Given the description of an element on the screen output the (x, y) to click on. 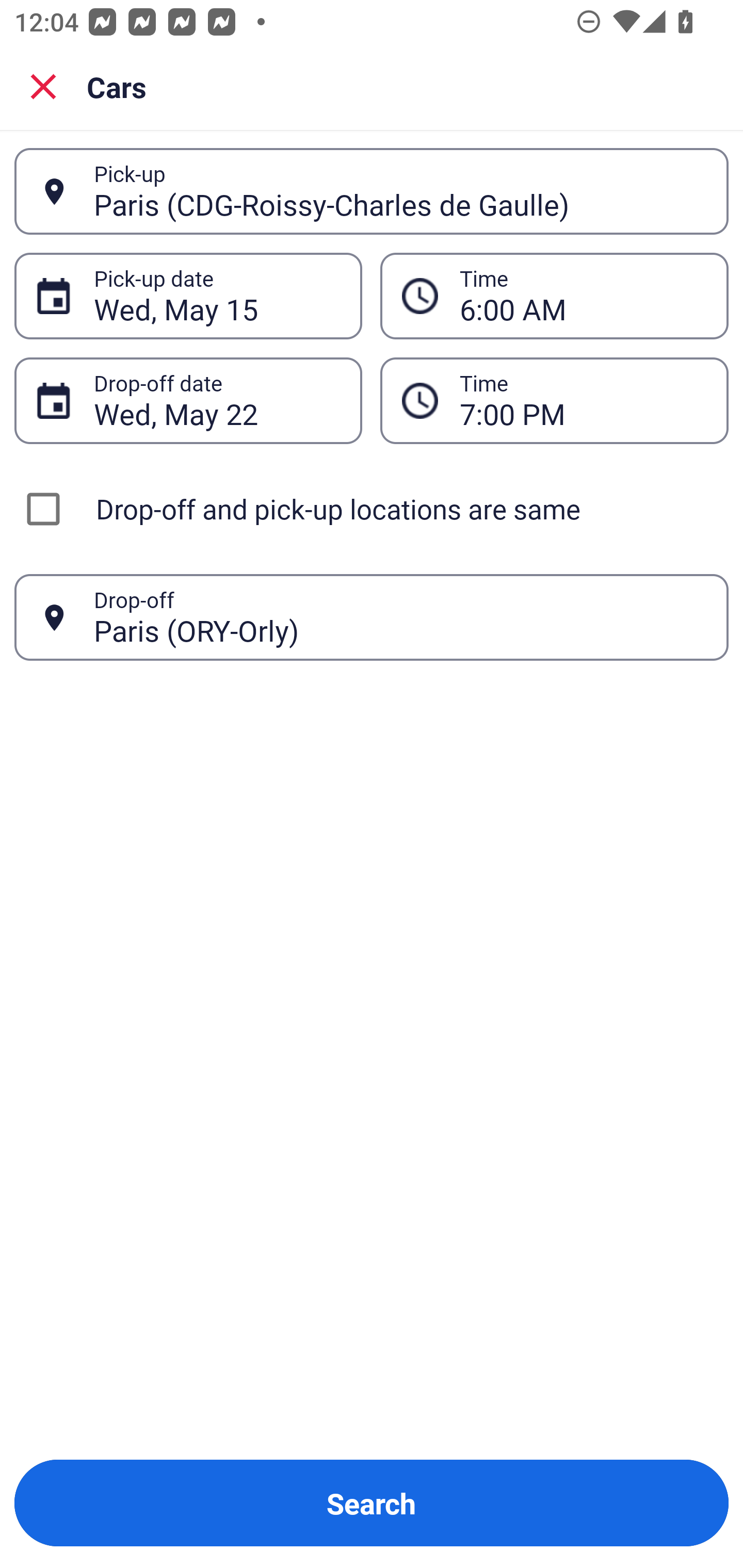
Close search screen (43, 86)
Paris (CDG-Roissy-Charles de Gaulle) Pick-up (371, 191)
Paris (CDG-Roissy-Charles de Gaulle) (399, 191)
Wed, May 15 Pick-up date (188, 295)
6:00 AM (554, 295)
Wed, May 15 (216, 296)
6:00 AM (582, 296)
Wed, May 22 Drop-off date (188, 400)
7:00 PM (554, 400)
Wed, May 22 (216, 400)
7:00 PM (582, 400)
Drop-off and pick-up locations are same (371, 508)
Paris (ORY-Orly) Drop-off (371, 616)
Paris (ORY-Orly) (399, 616)
Search Button Search (371, 1502)
